Given the description of an element on the screen output the (x, y) to click on. 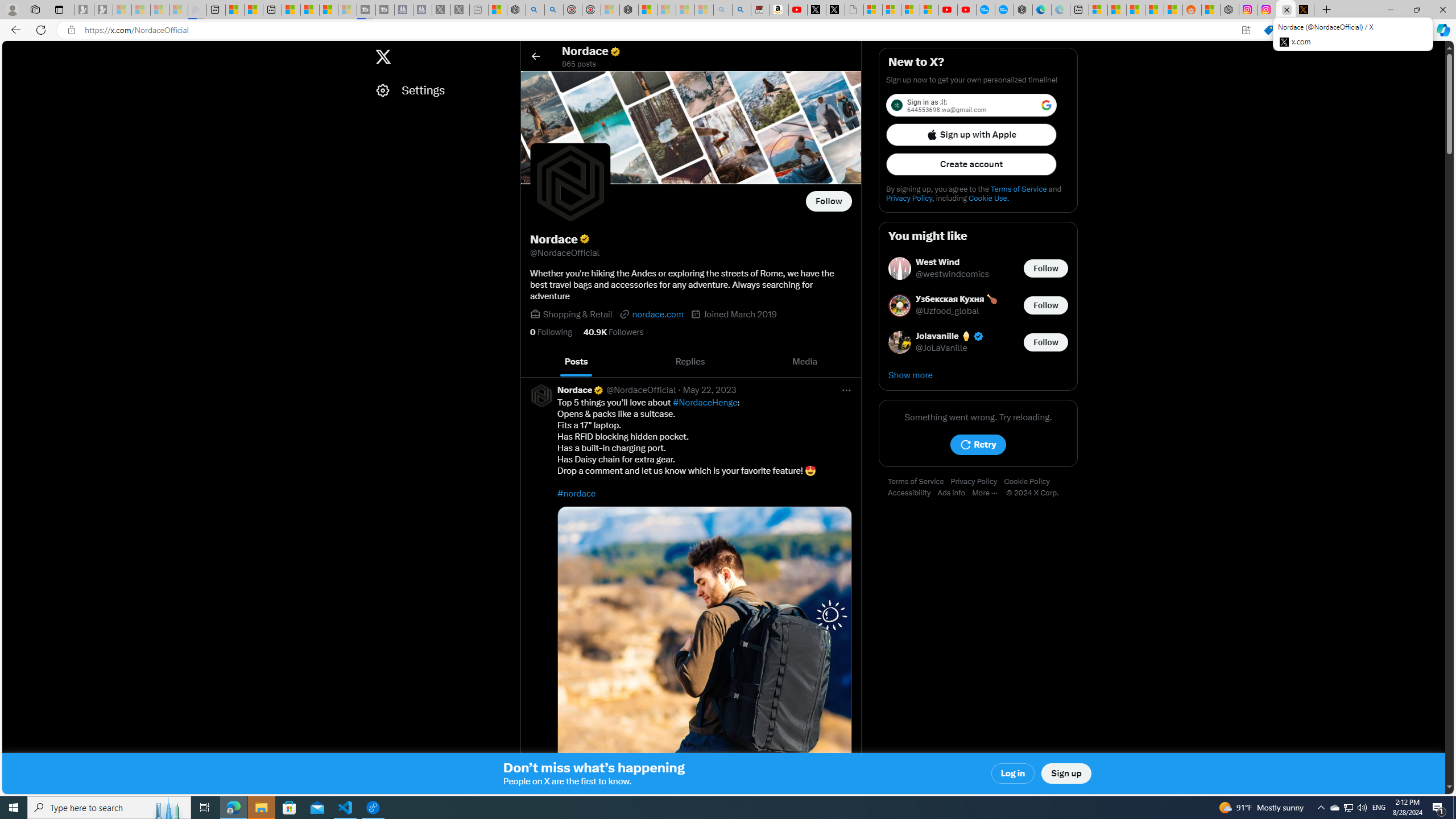
Gloom - YouTube (947, 9)
@JoLaVanille (940, 348)
Privacy Policy (977, 481)
Log in (1013, 773)
Next (848, 361)
Cookie Use. (988, 198)
Follow @westwindcomics (1045, 267)
@NordaceOfficial (640, 389)
